Given the description of an element on the screen output the (x, y) to click on. 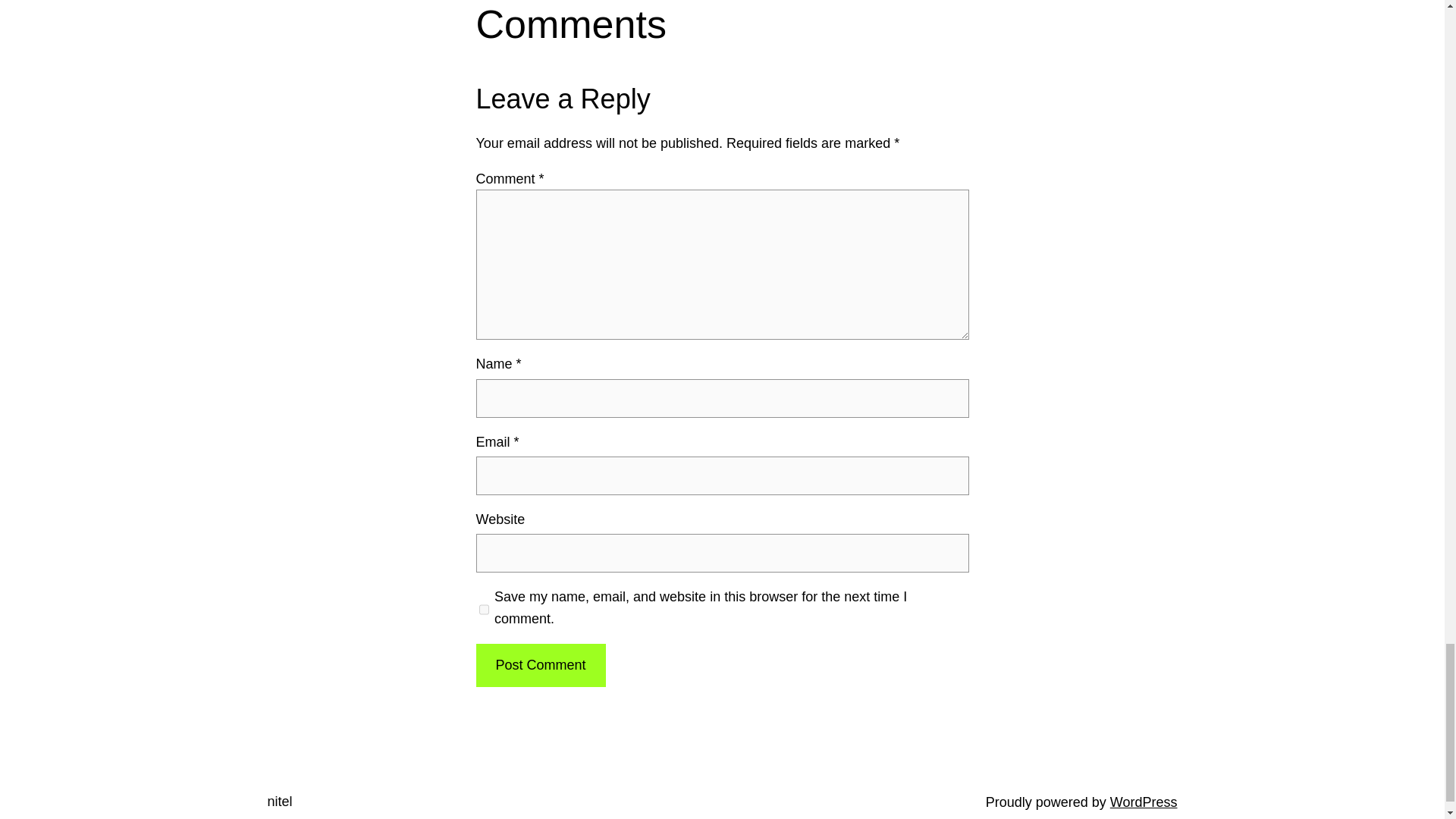
yes (484, 609)
Post Comment (540, 665)
nitel (279, 801)
WordPress (1143, 801)
Post Comment (540, 665)
